Given the description of an element on the screen output the (x, y) to click on. 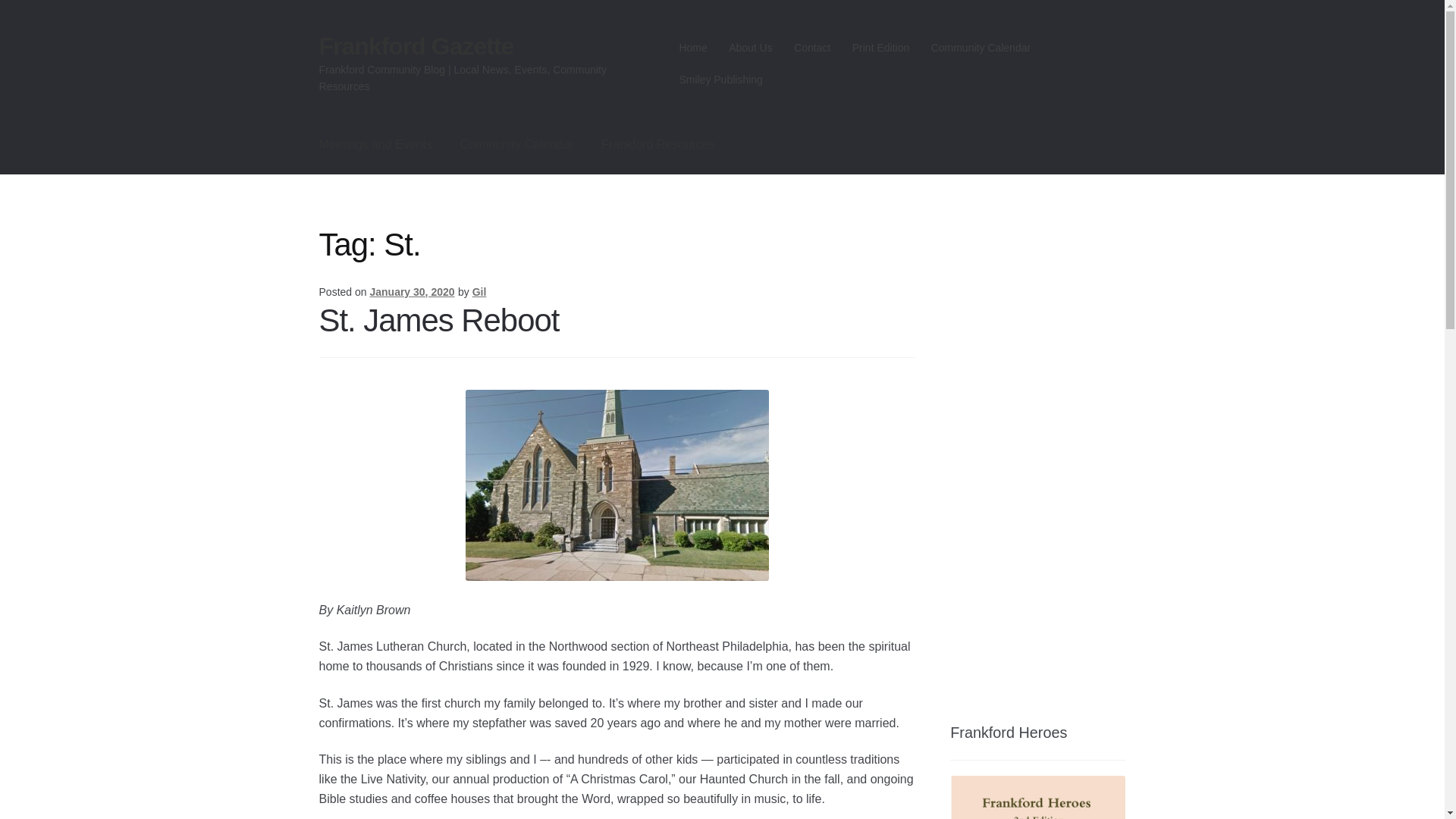
Print Edition (880, 47)
January 30, 2020 (411, 291)
Home (692, 47)
Community Calendar (515, 144)
Community Calendar (980, 47)
Meetings and Events (375, 144)
Contact (812, 47)
St. James Reboot (438, 319)
Smiley Publishing (720, 79)
Gil (478, 291)
Frankford Resources (657, 144)
Frankford Gazette (415, 45)
About Us (750, 47)
